Given the description of an element on the screen output the (x, y) to click on. 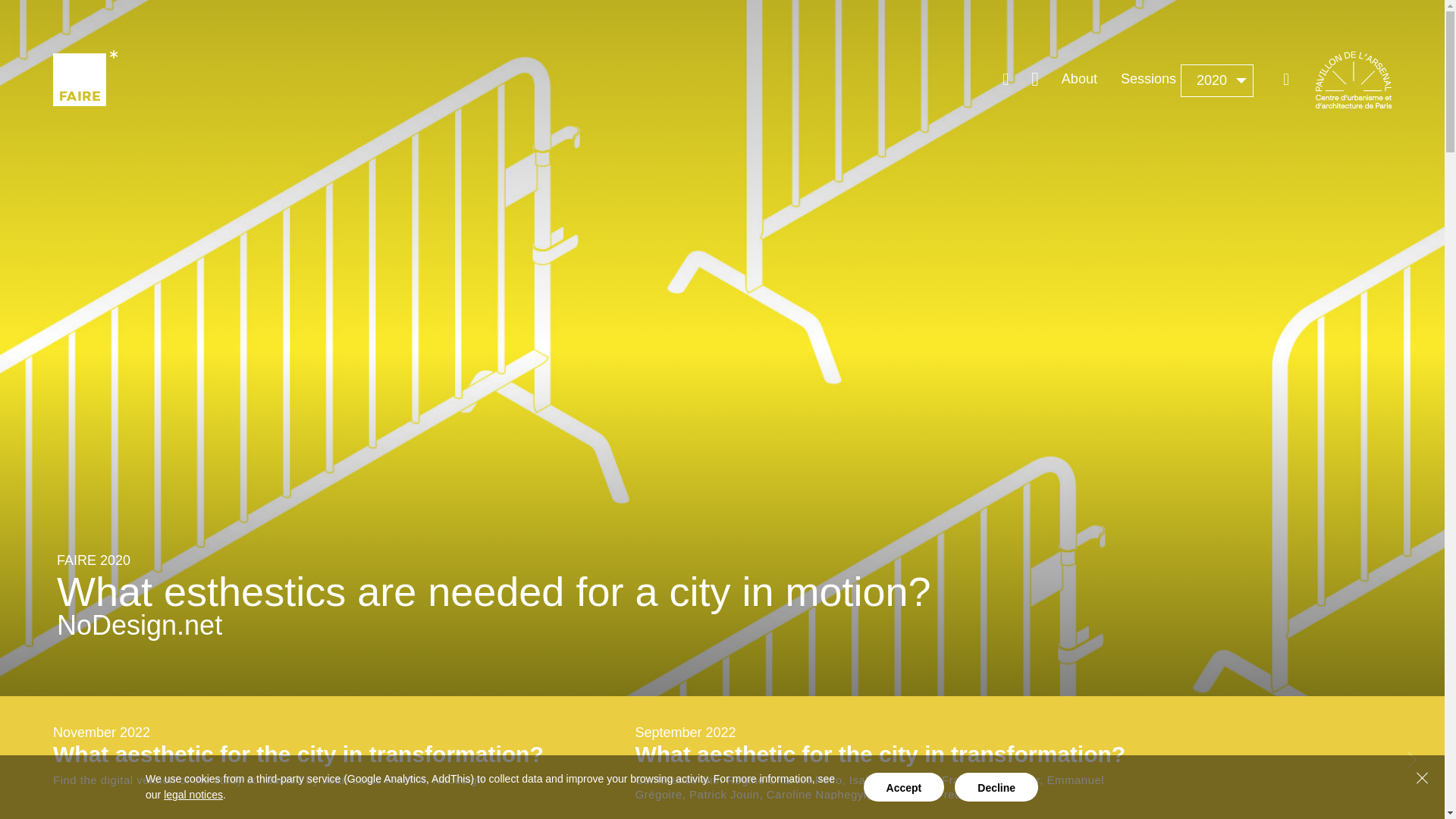
About (1078, 79)
legal notices (192, 794)
